Given the description of an element on the screen output the (x, y) to click on. 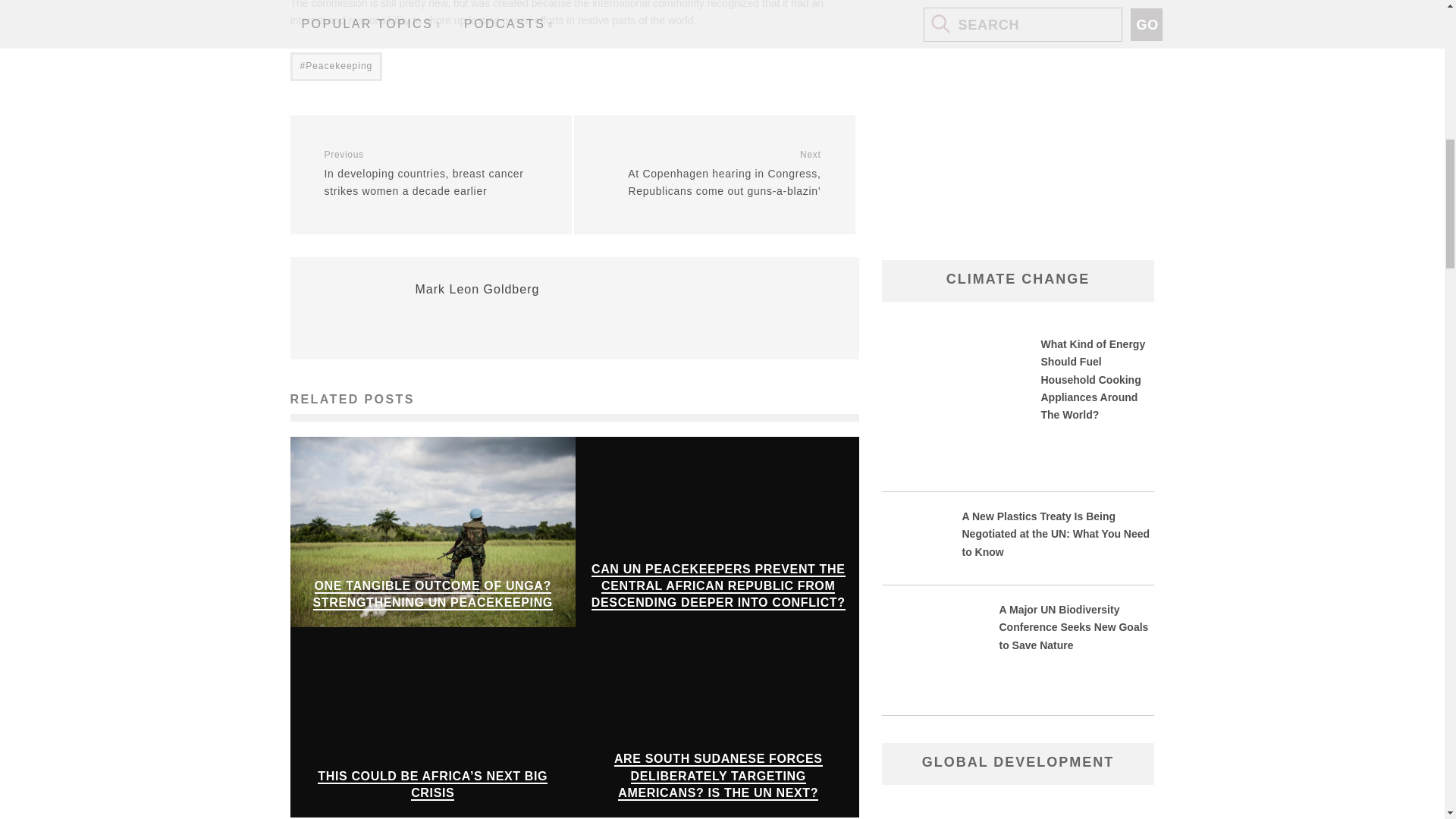
Peacekeeping (335, 66)
ONE TANGIBLE OUTCOME OF UNGA? STRENGTHENING UN PEACEKEEPING (433, 594)
Mark Leon Goldberg (477, 288)
